Given the description of an element on the screen output the (x, y) to click on. 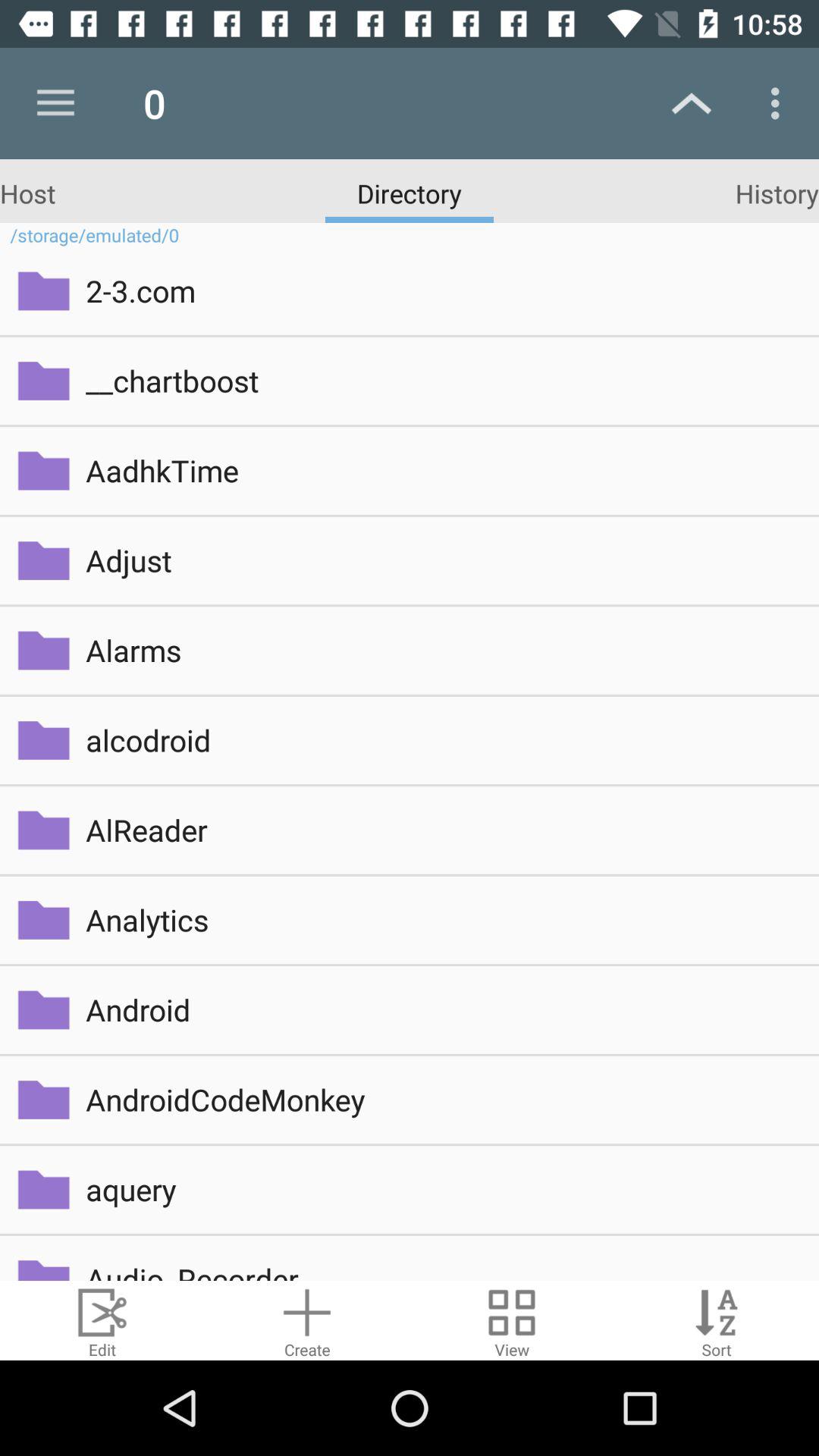
scroll to the aadhktime item (441, 470)
